Given the description of an element on the screen output the (x, y) to click on. 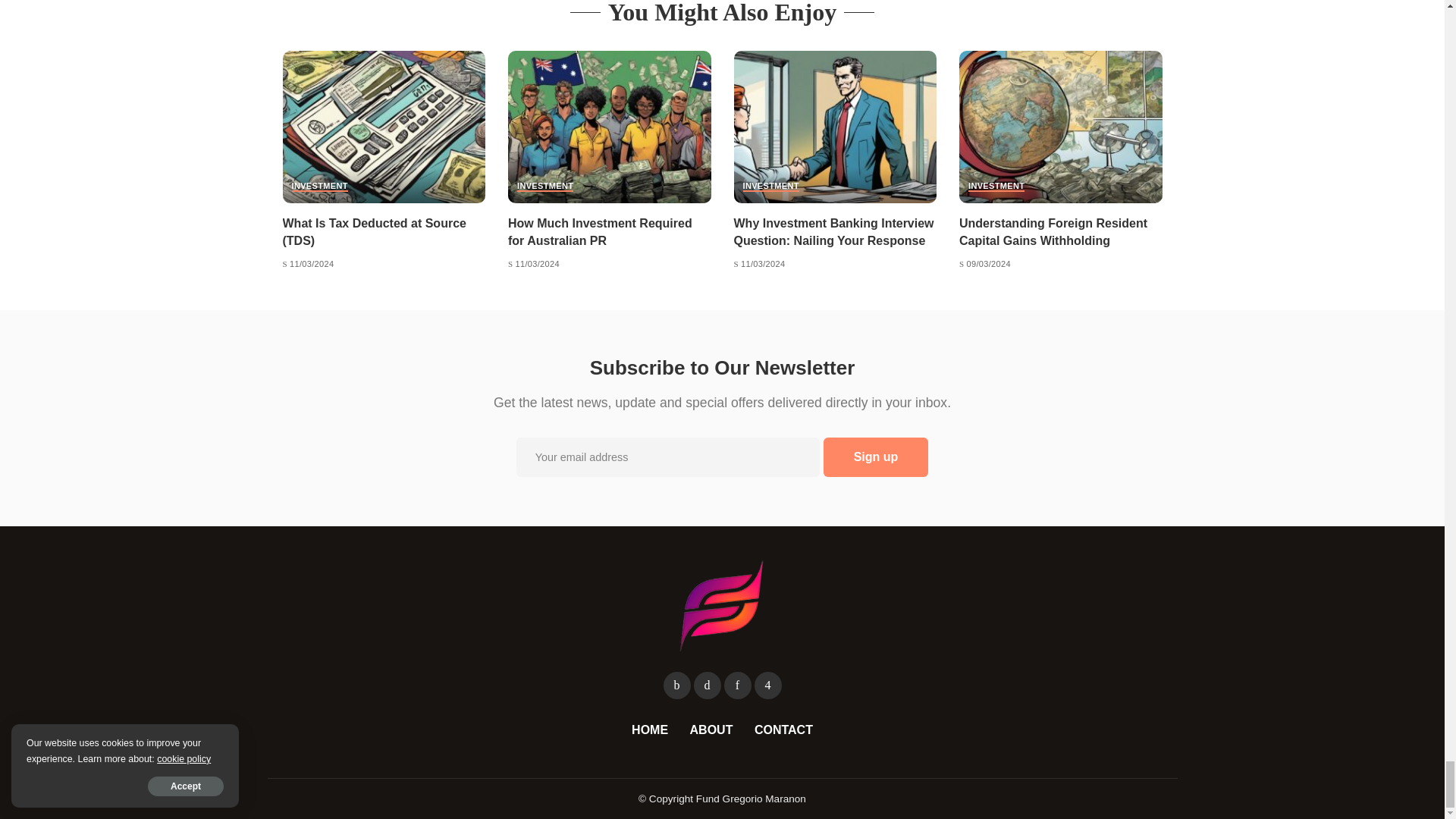
Sign up (876, 456)
